Given the description of an element on the screen output the (x, y) to click on. 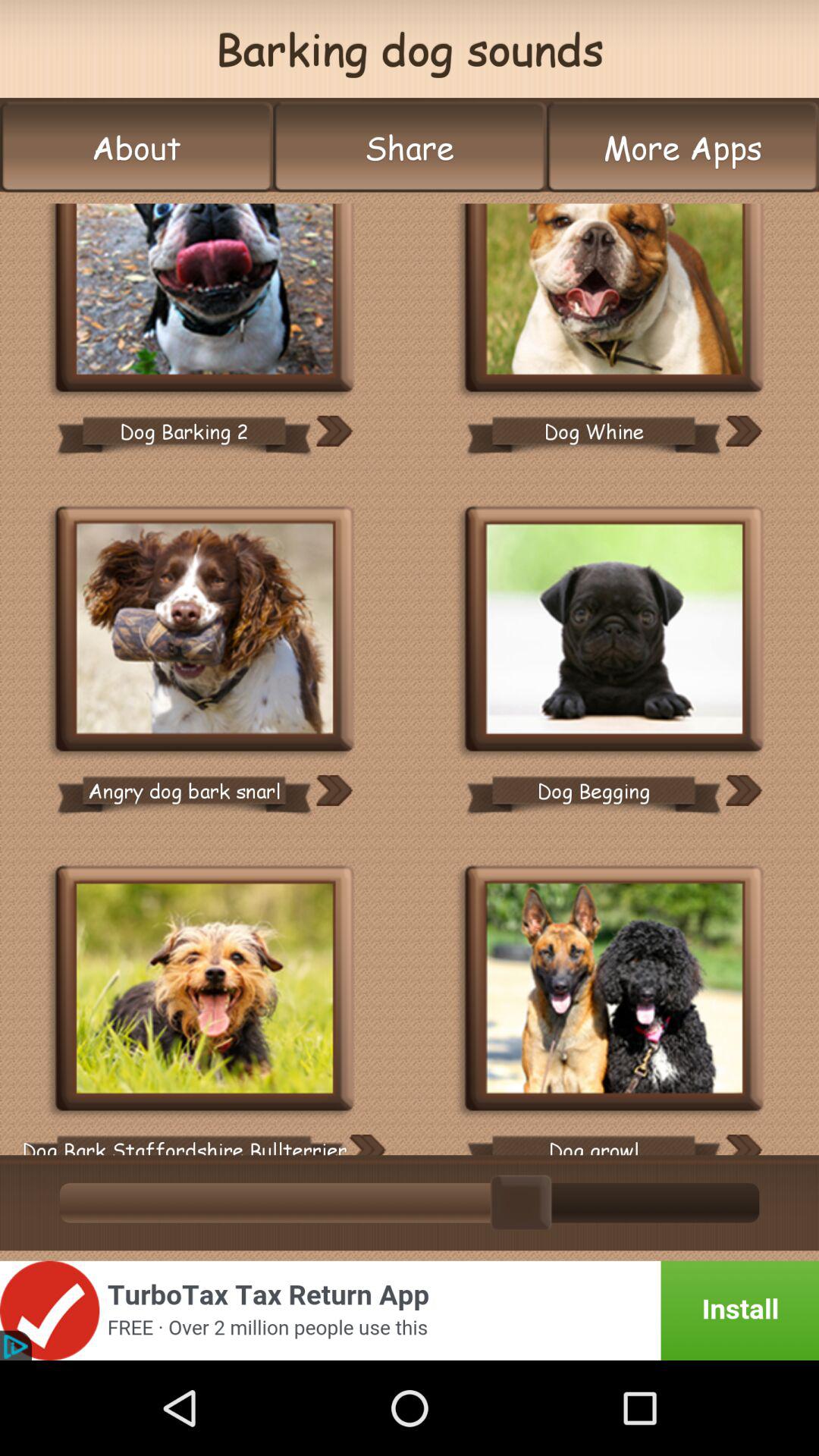
switch to next (743, 430)
